Given the description of an element on the screen output the (x, y) to click on. 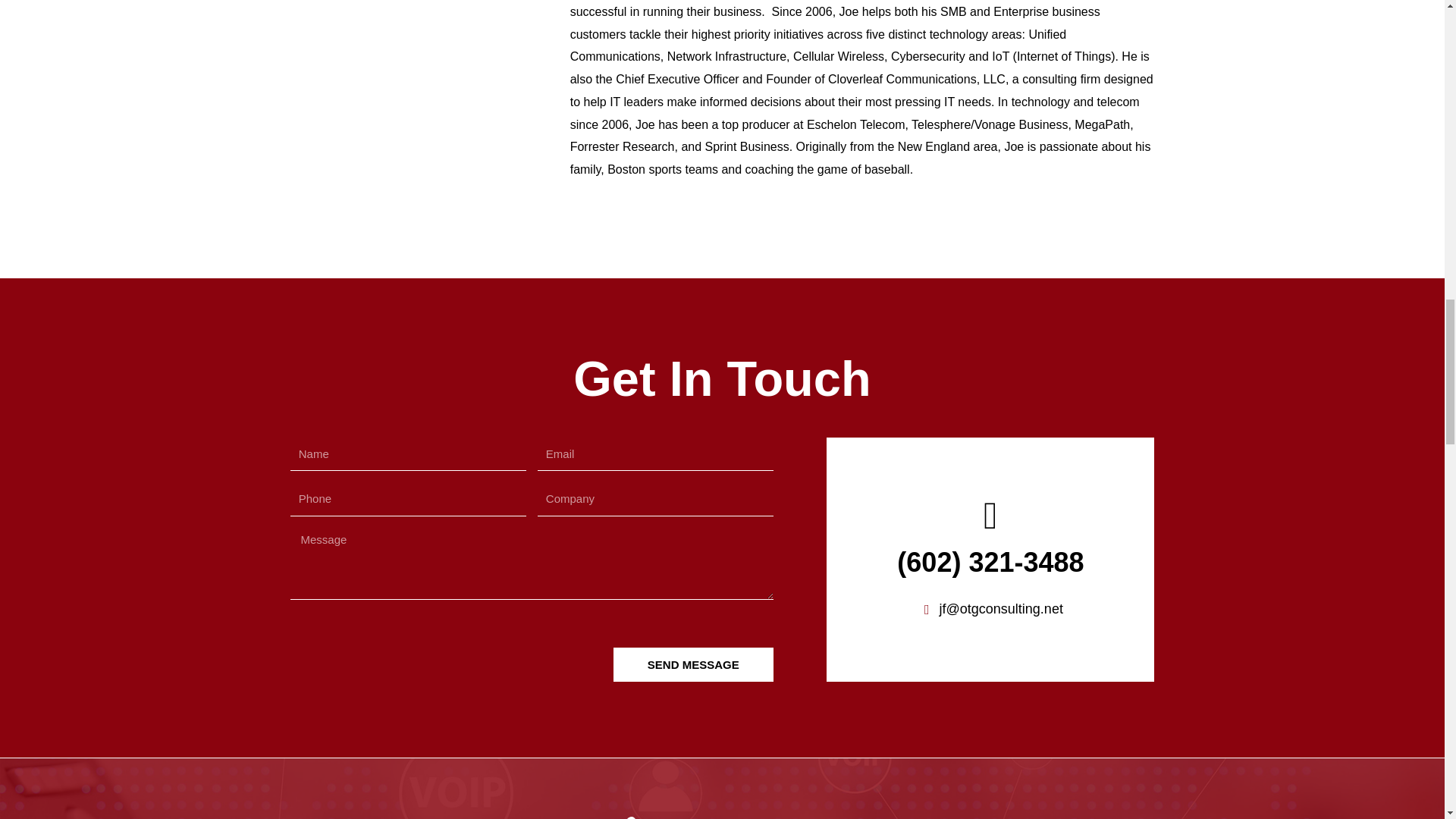
SEND MESSAGE (692, 664)
